Given the description of an element on the screen output the (x, y) to click on. 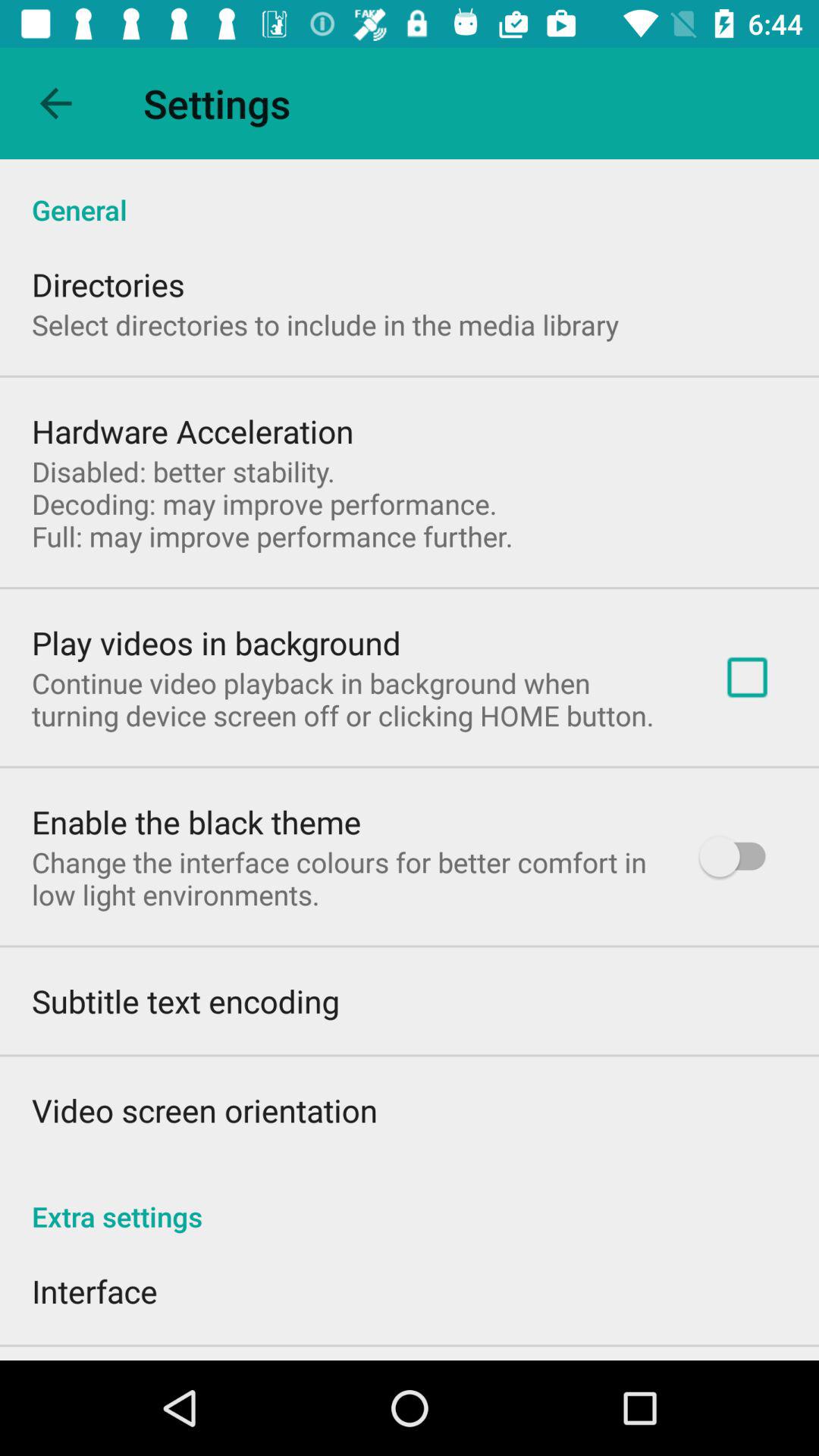
launch the item below continue video playback app (196, 821)
